Given the description of an element on the screen output the (x, y) to click on. 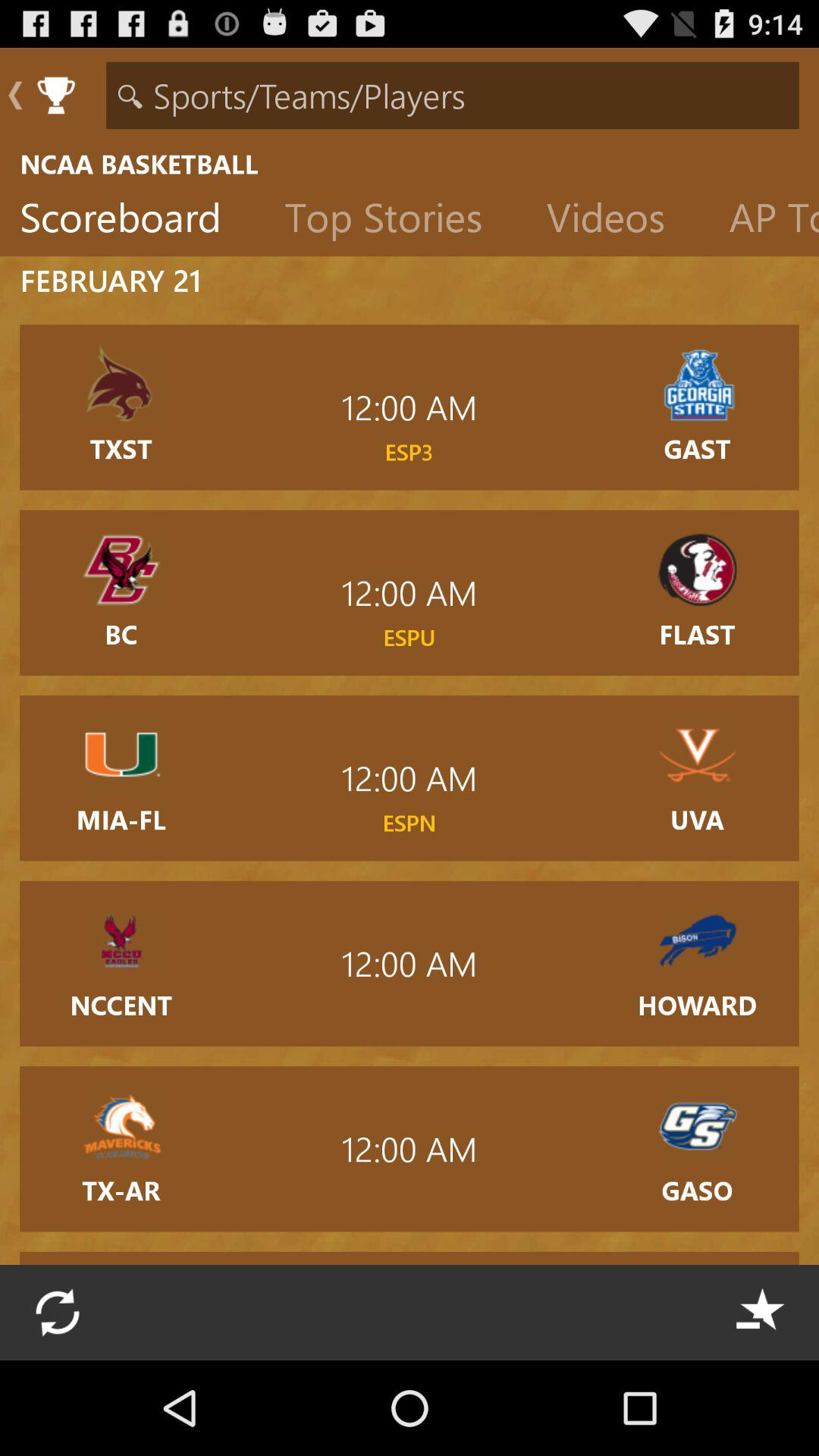
scroll until scoreboard icon (132, 220)
